Given the description of an element on the screen output the (x, y) to click on. 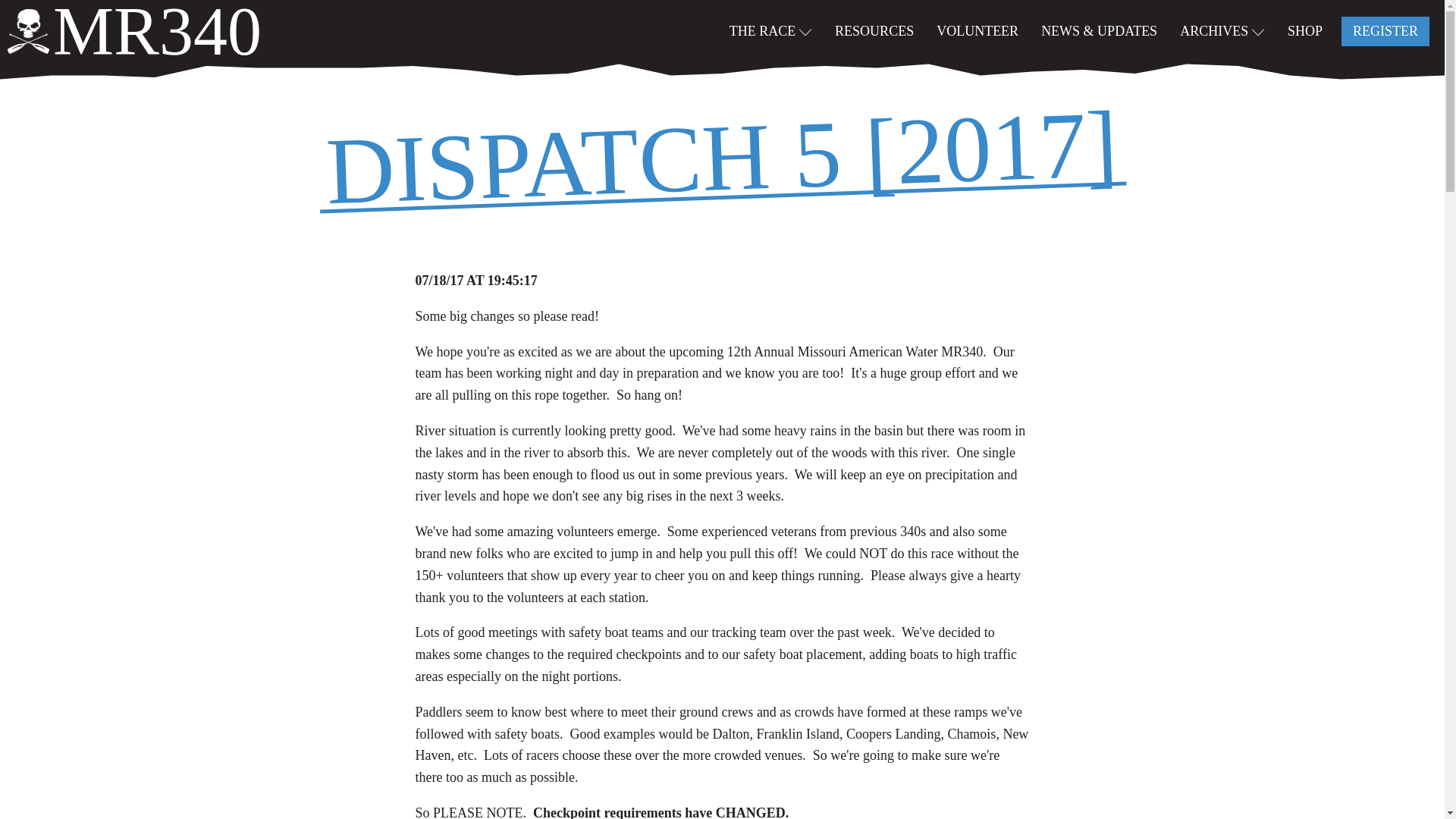
MR340 (134, 31)
THE RACE (770, 30)
RESOURCES (874, 30)
SHOP (1305, 30)
REGISTER (1384, 30)
VOLUNTEER (977, 30)
ARCHIVES (1222, 30)
